Given the description of an element on the screen output the (x, y) to click on. 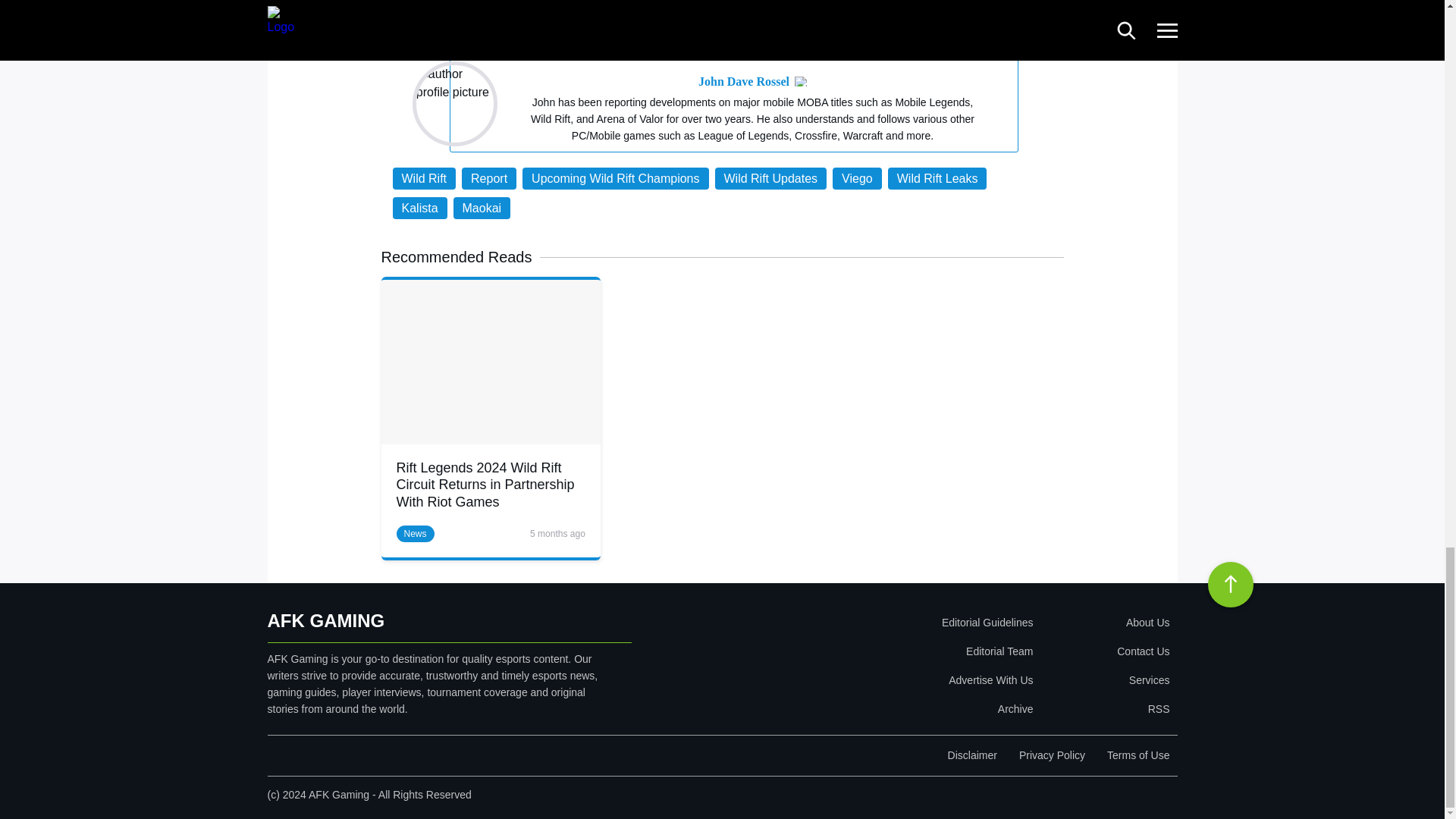
Maokai (481, 208)
Terms of Use (1137, 755)
Archive (899, 708)
Wild Rift Updates (770, 178)
Contact Us (1105, 651)
Disclaimer (972, 755)
RSS (1105, 708)
Advertise With Us (899, 680)
Services (1105, 680)
Editorial Guidelines (899, 622)
Privacy Policy (1051, 755)
Kalista (419, 208)
Editorial Team (899, 651)
John Dave Rossel (743, 81)
